Given the description of an element on the screen output the (x, y) to click on. 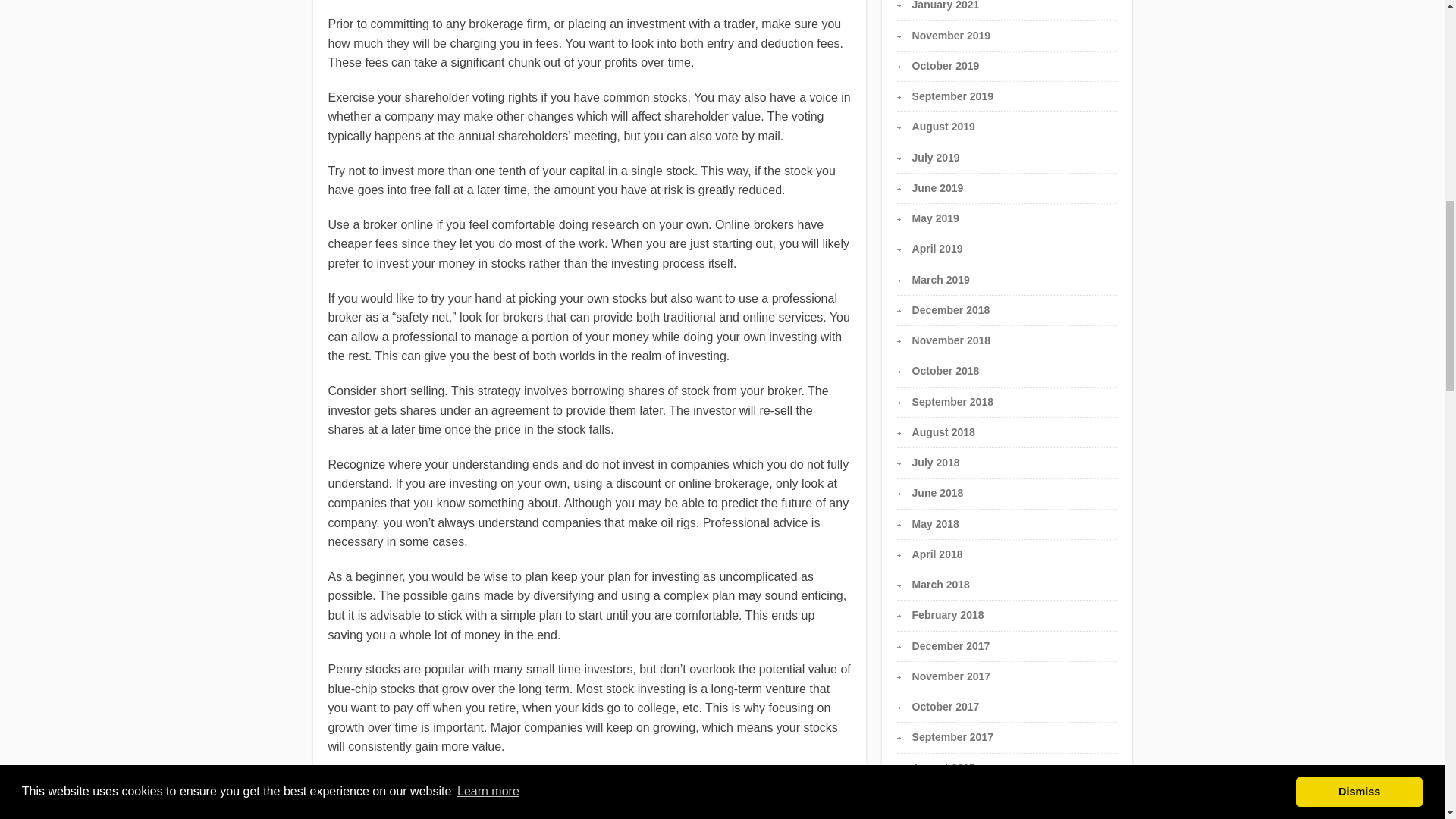
June 2019 (937, 187)
October 2018 (945, 370)
September 2018 (952, 401)
August 2019 (943, 126)
October 2019 (945, 65)
September 2019 (952, 96)
January 2021 (945, 5)
March 2019 (940, 278)
November 2019 (951, 34)
May 2019 (935, 218)
